Given the description of an element on the screen output the (x, y) to click on. 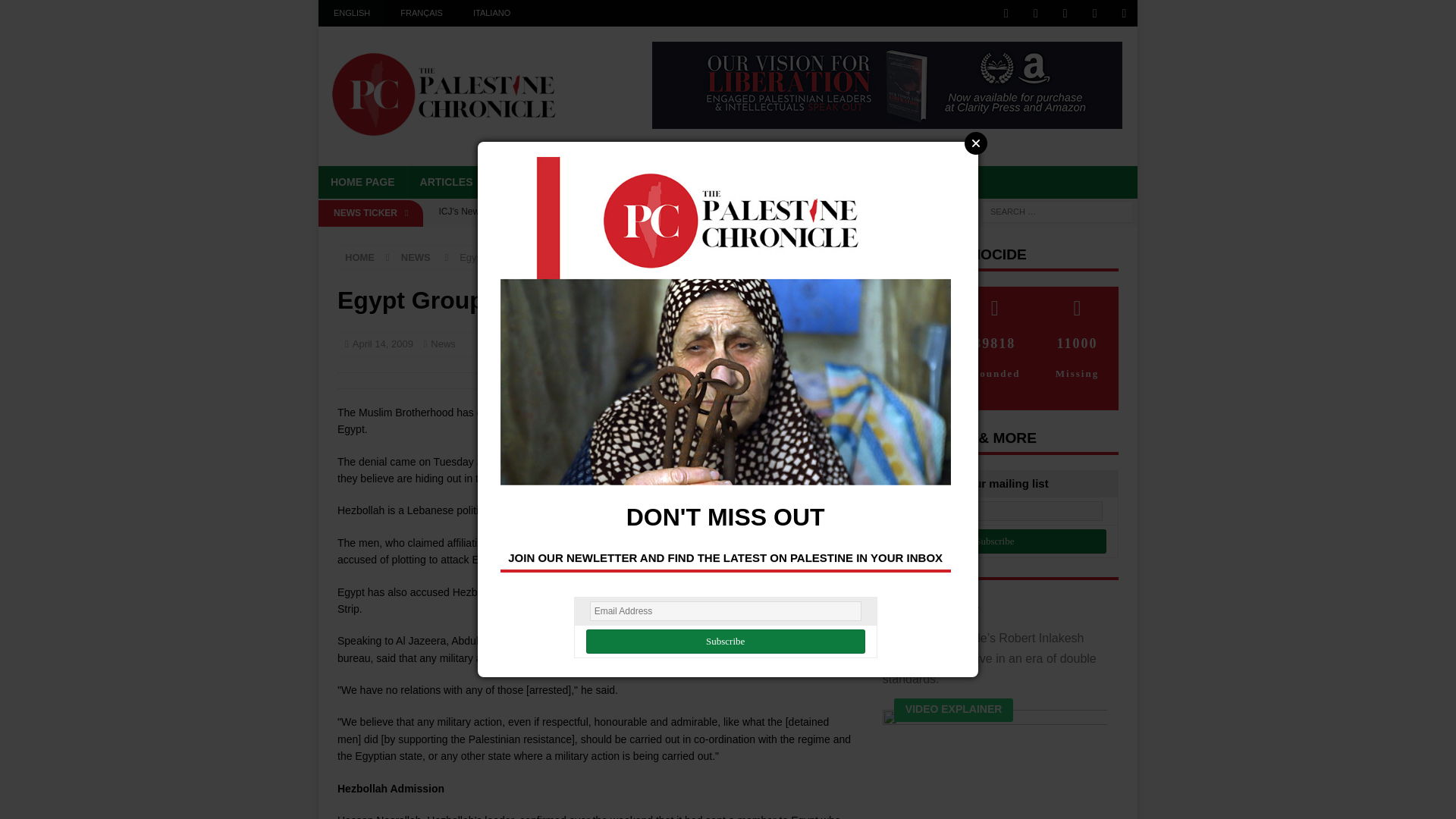
CONTACT US (940, 182)
ENGLISH (351, 13)
REVIEWS (699, 182)
ABOUT (767, 182)
Subscribe (725, 641)
ITALIANO (491, 13)
The Politics of Water under Occupation: Israel in Palestine (640, 237)
Subscribe (994, 541)
Search (56, 11)
VIDEOS (629, 182)
ARTICLES (445, 182)
HOME PAGE (362, 182)
SUPPORT US (846, 182)
HOME (359, 256)
